Given the description of an element on the screen output the (x, y) to click on. 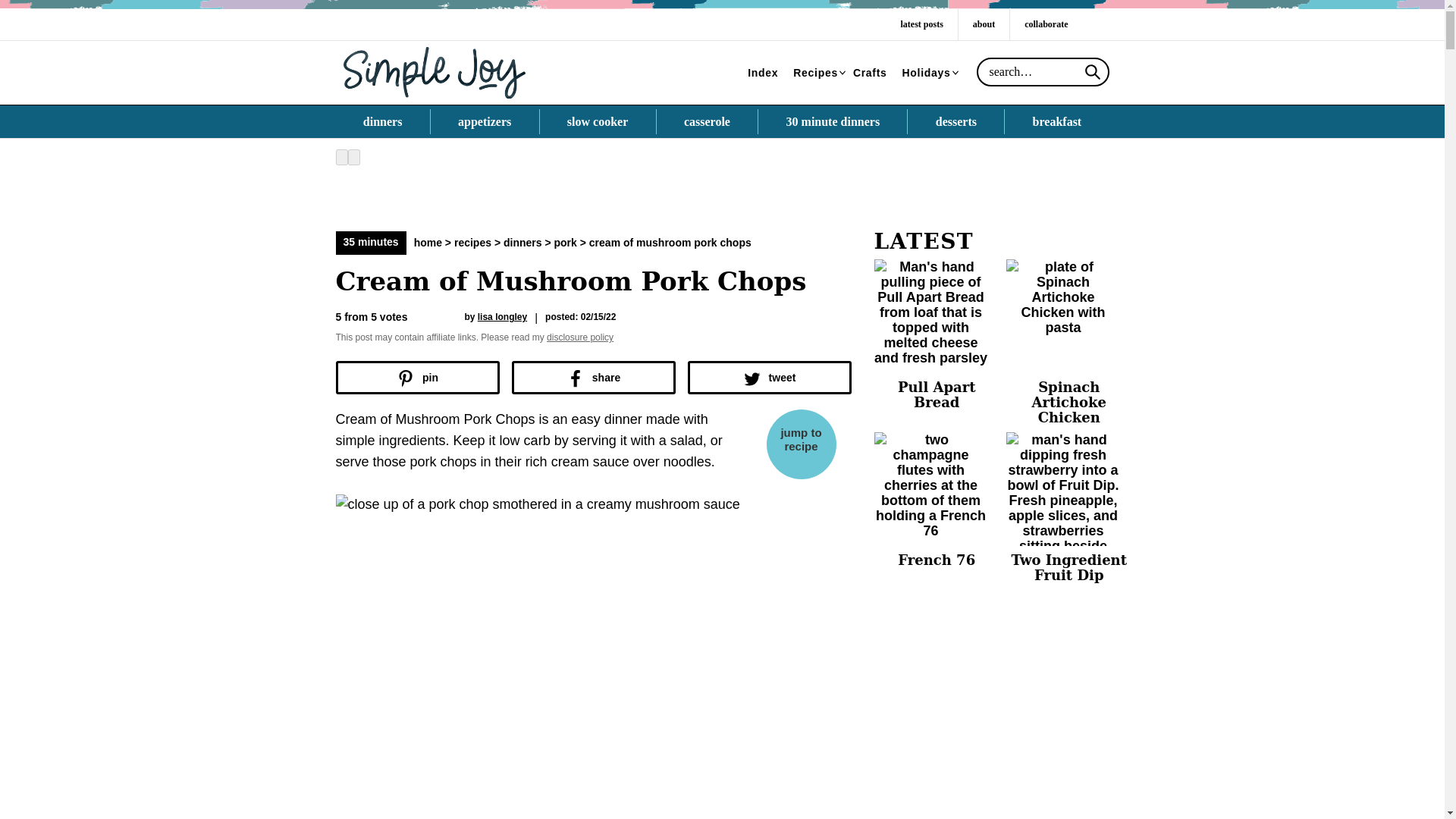
Search for (1042, 71)
Recipes (815, 72)
Simple Joy (433, 71)
collaborate (1045, 24)
Share on Pinterest (416, 377)
about (983, 24)
Share on Facebook (593, 377)
Index (762, 72)
Share on Twitter (768, 377)
latest posts (920, 24)
